Given the description of an element on the screen output the (x, y) to click on. 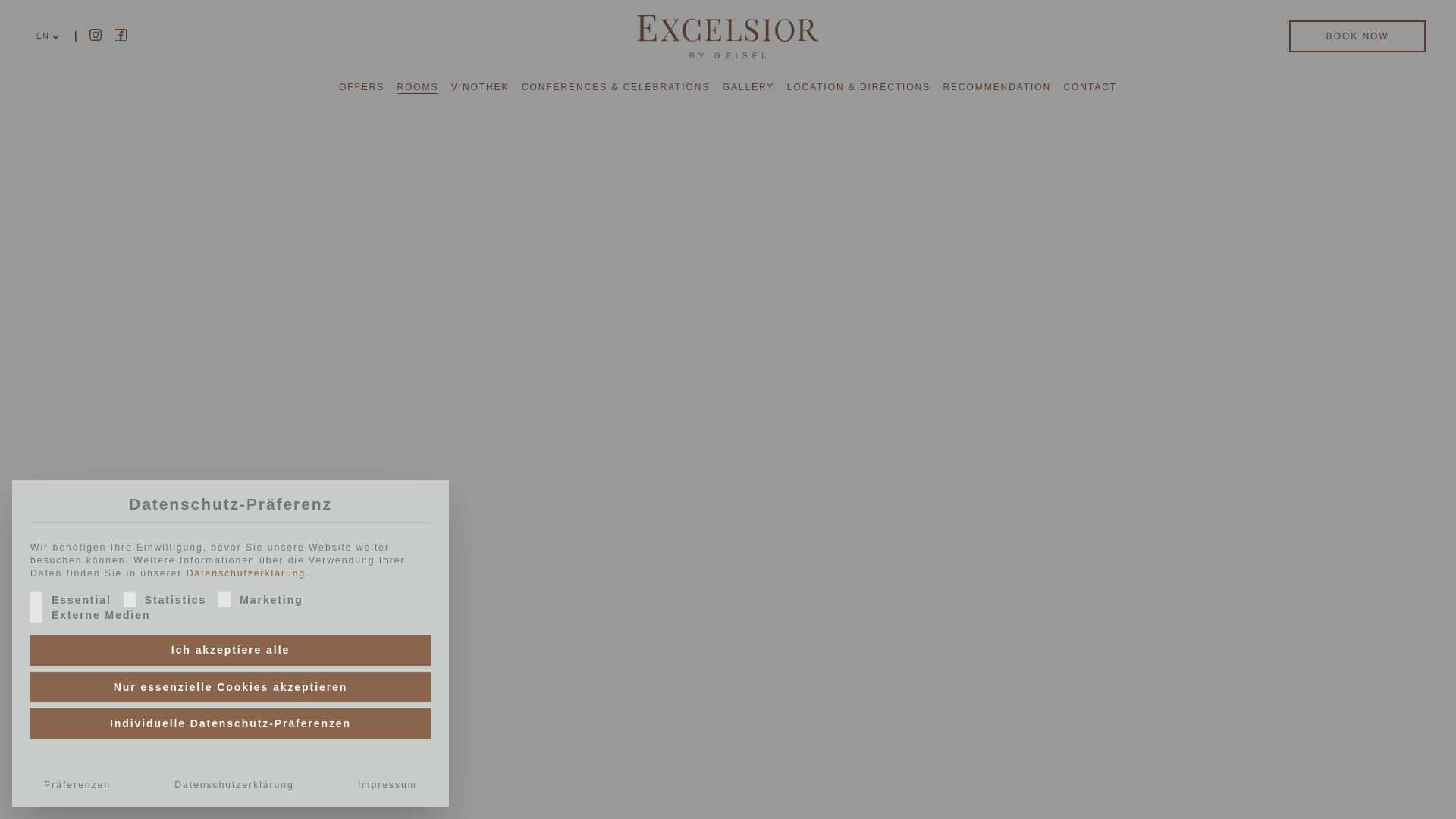
GALLERY (748, 86)
Facebook (120, 34)
ROOMS (418, 86)
Instagram (94, 34)
BOOK NOW (1356, 36)
RECOMMENDATION (996, 86)
OFFERS (361, 86)
VINOTHEK (480, 86)
